Given the description of an element on the screen output the (x, y) to click on. 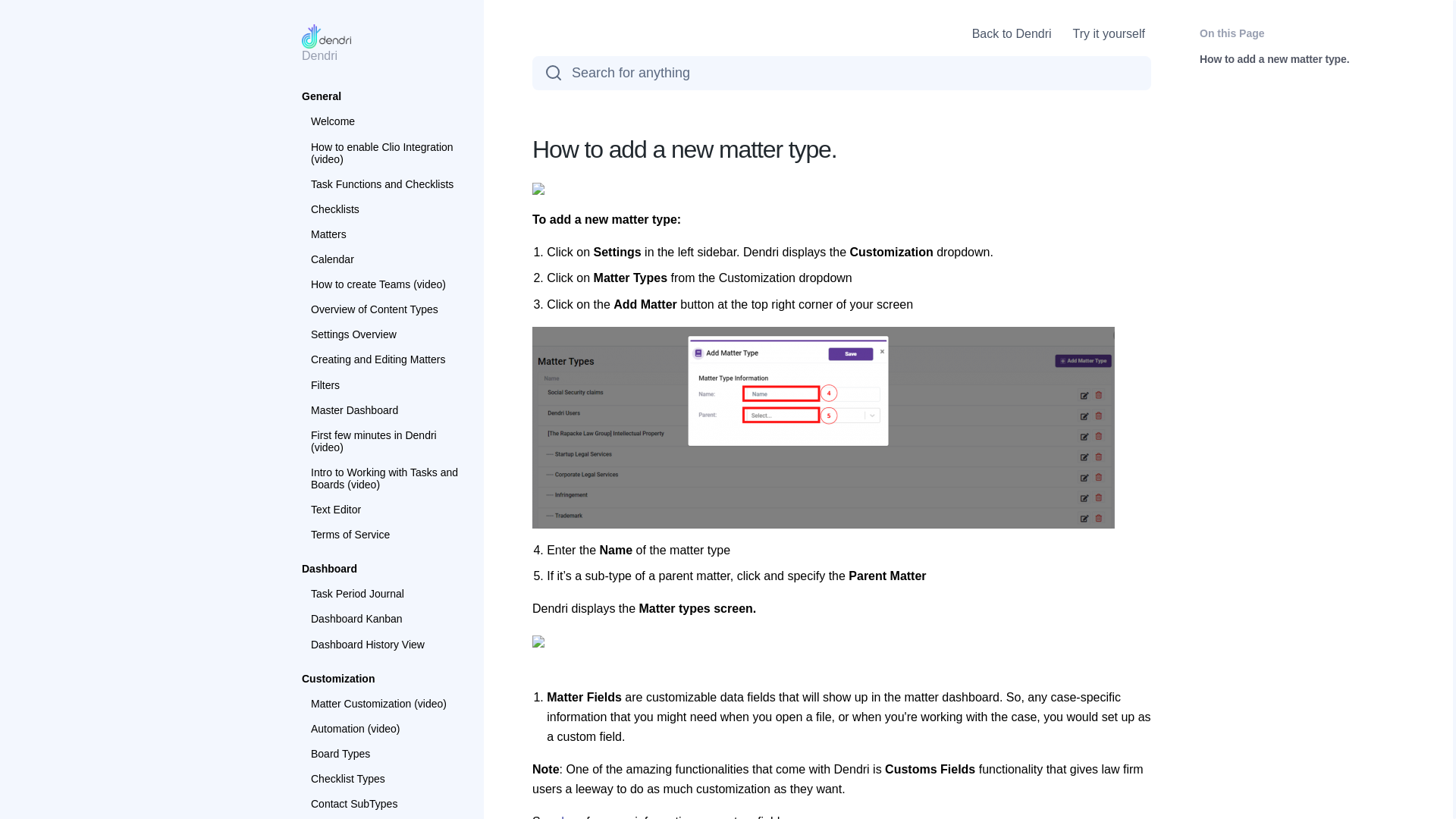
Settings Overview (384, 334)
Filters (384, 385)
Labels (384, 817)
Checklists (384, 209)
Overview of Content Types (384, 309)
Board Types (384, 753)
Dashboard History View (384, 644)
Checklist Types (384, 778)
Dashboard Kanban (384, 618)
Calendar (384, 259)
Text Editor (384, 509)
Terms of Service (384, 534)
Matters (384, 233)
Task Period Journal (384, 593)
Creating and Editing Matters (384, 359)
